Given the description of an element on the screen output the (x, y) to click on. 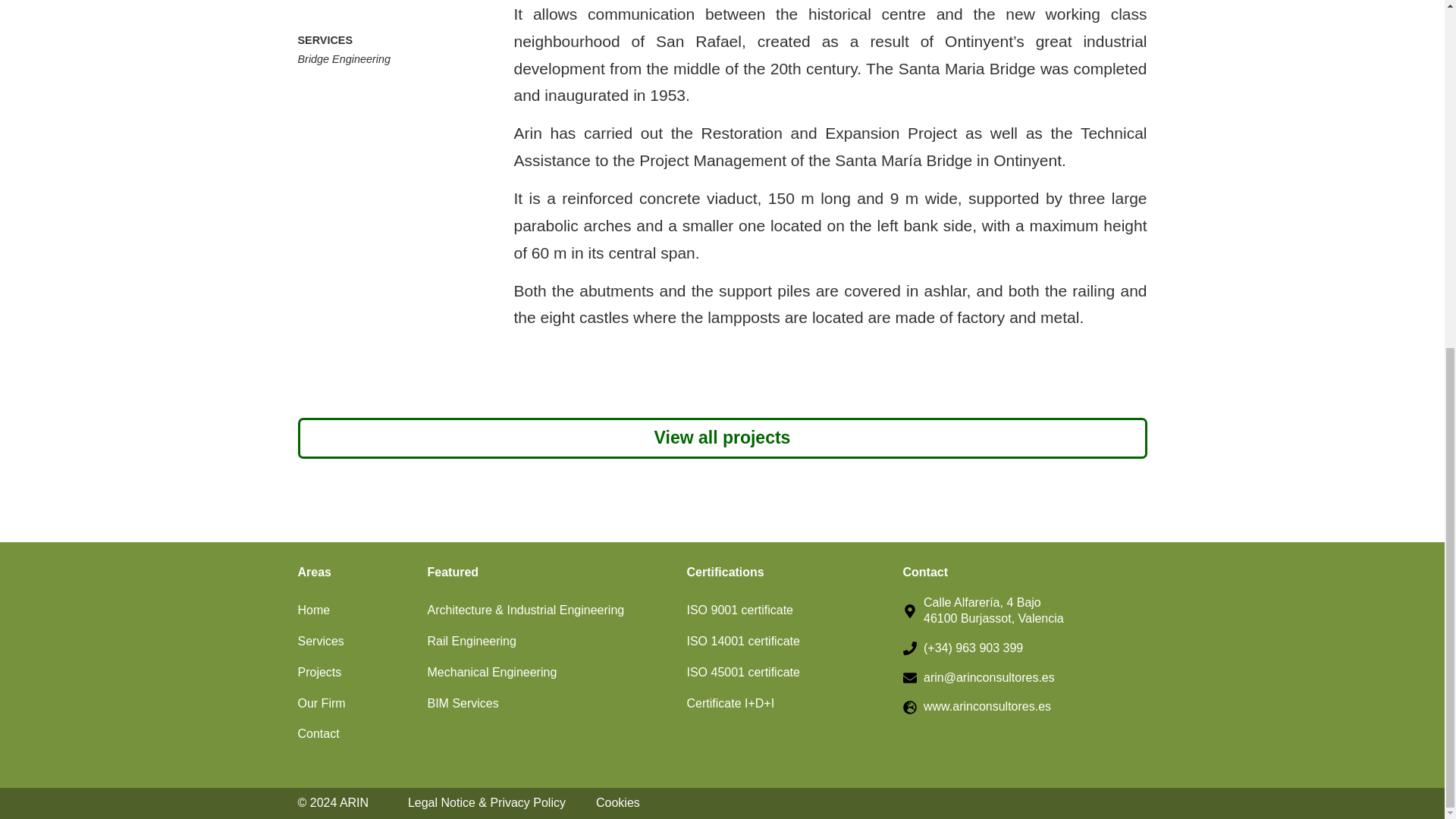
Services (354, 641)
Bridge Engineering (343, 59)
Projects (354, 672)
Rail Engineering (549, 641)
ISO 14001 certificate (787, 641)
Mechanical Engineering (549, 672)
ISO 45001 certificate (787, 672)
Contact (354, 734)
Home (354, 610)
ISO 9001 certificate (787, 610)
